Given the description of an element on the screen output the (x, y) to click on. 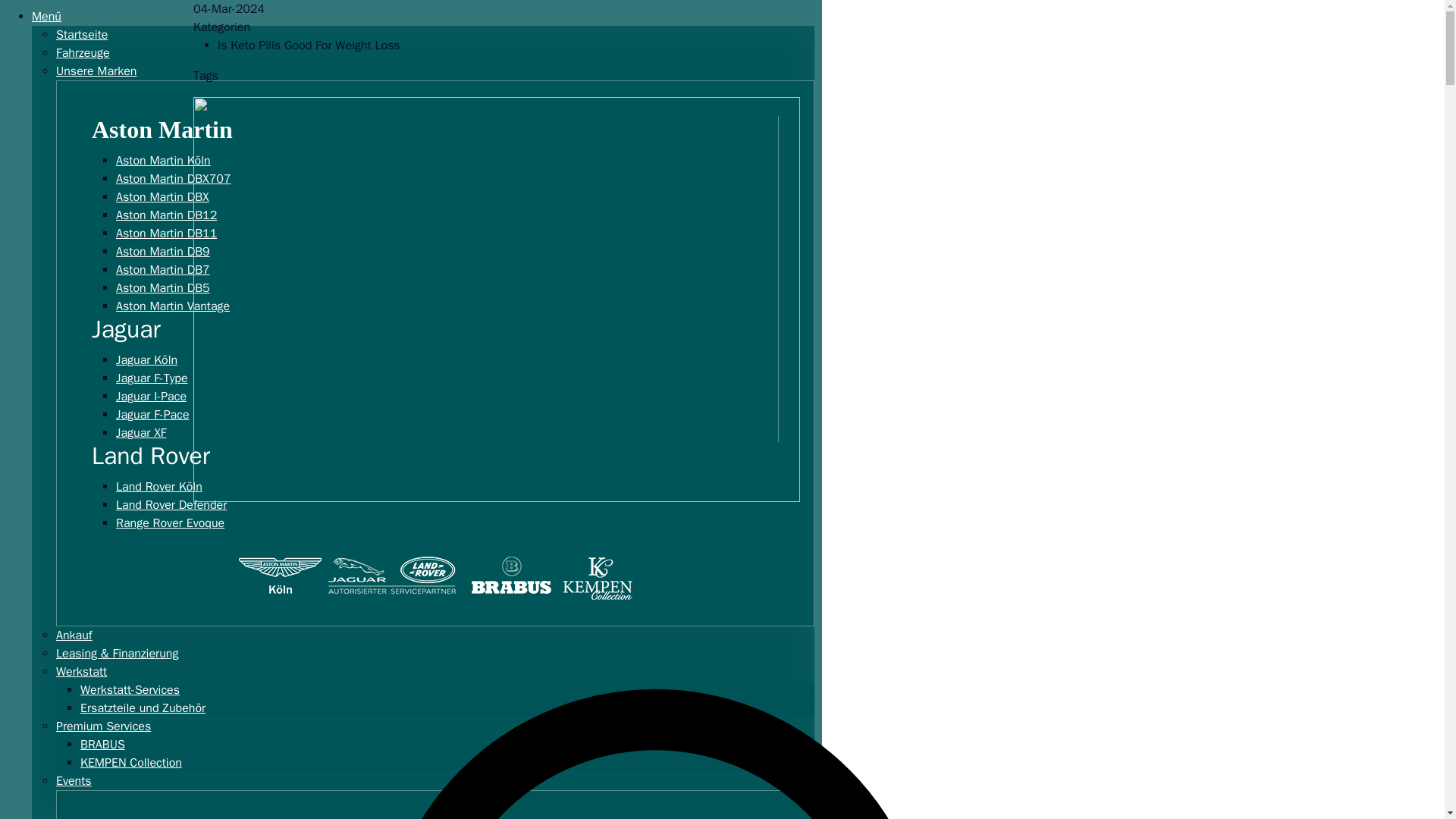
Ankauf (74, 635)
Premium Services (103, 726)
Aston Martin DB12 (173, 215)
Aston Martin DBX (170, 196)
Jaguar I-Pace (159, 396)
Aston Martin DBX707 (181, 178)
Jaguar XF (148, 432)
Land Rover Defender (178, 504)
Range Rover Evoque (178, 523)
KEMPEN Collection (131, 762)
